Given the description of an element on the screen output the (x, y) to click on. 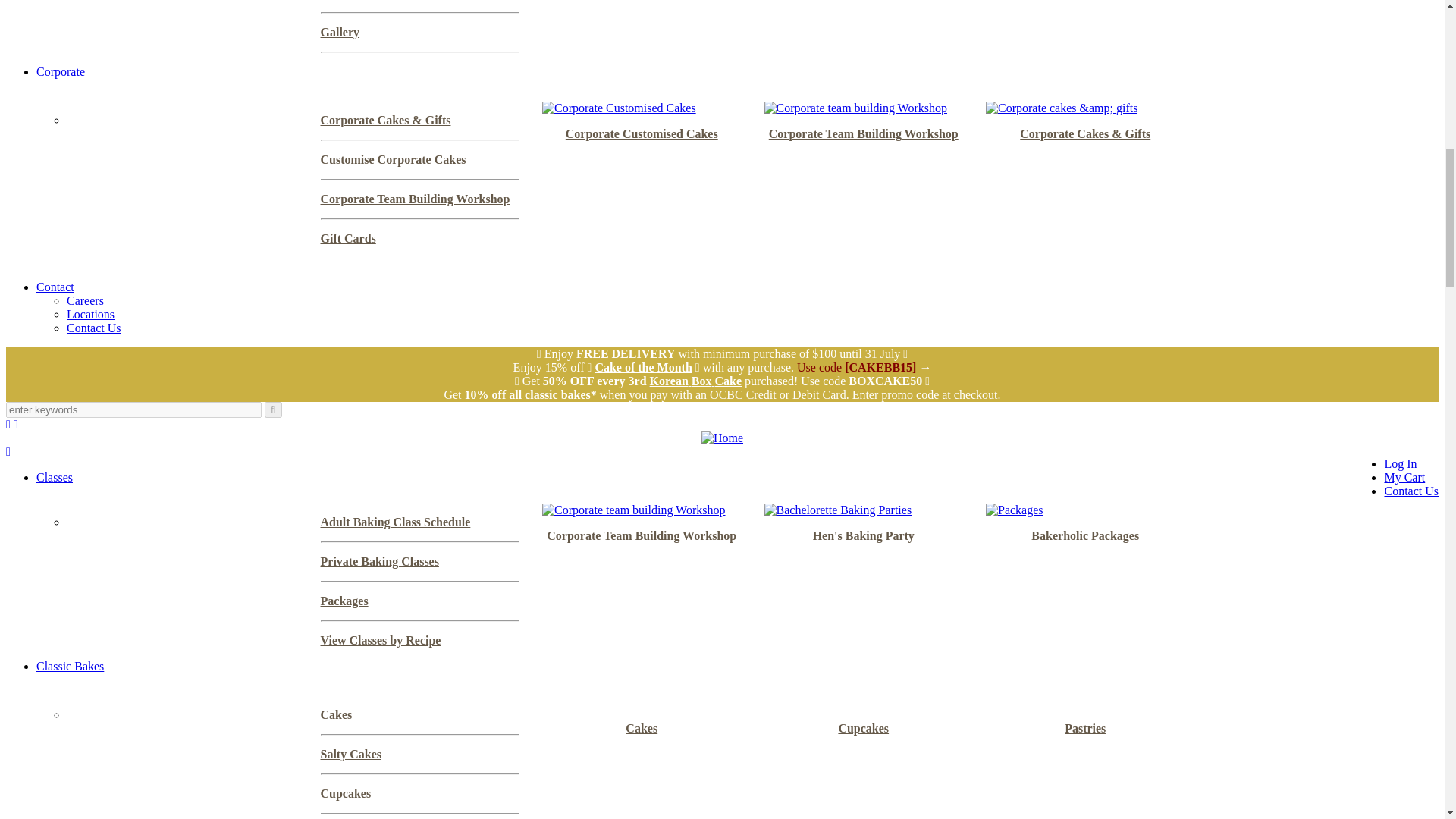
Baker's Brew Corporate Orders (60, 71)
